Given the description of an element on the screen output the (x, y) to click on. 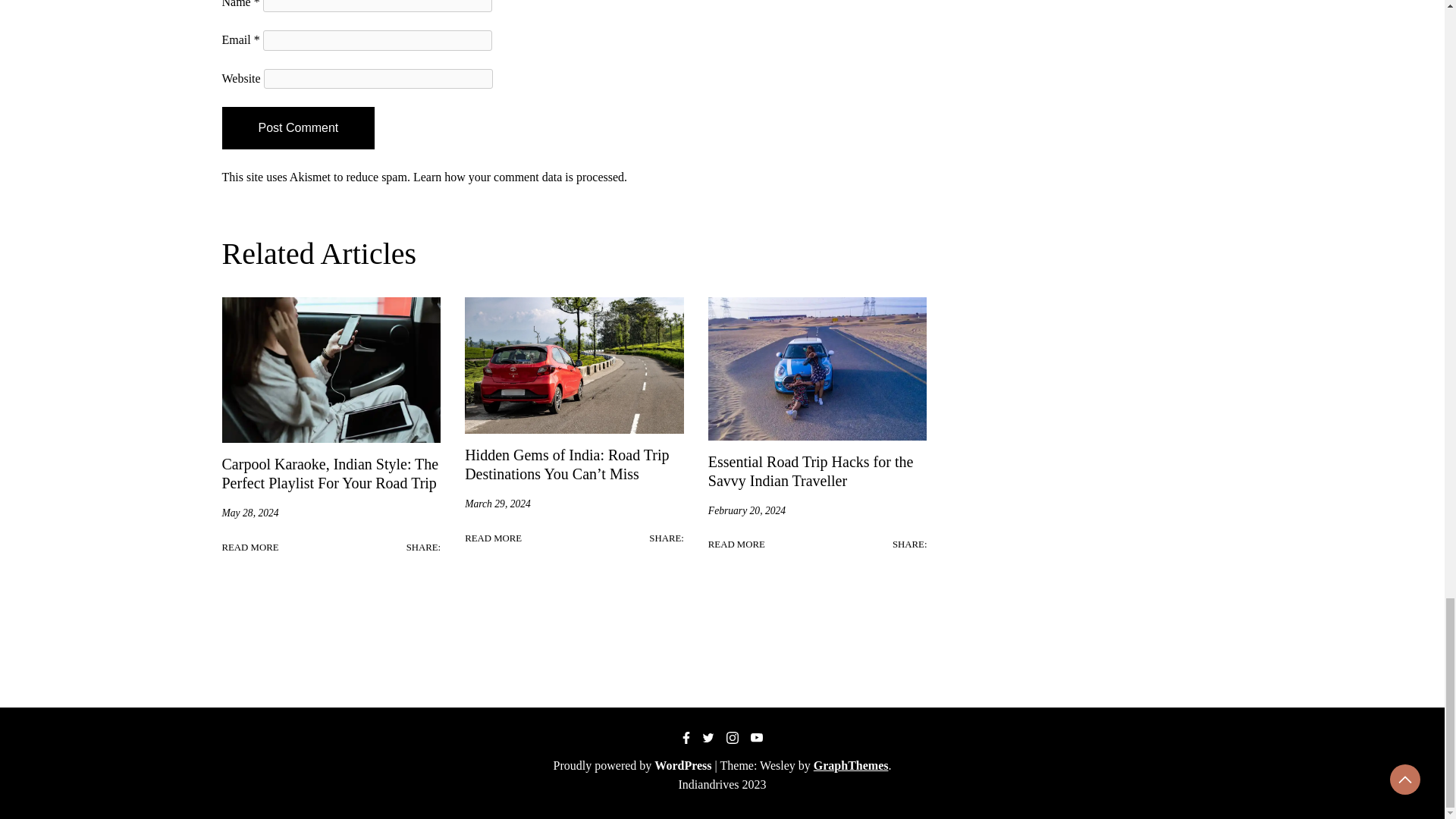
READ MORE (249, 547)
February 20, 2024 (746, 510)
Post Comment (297, 128)
March 29, 2024 (497, 504)
Essential Road Trip Hacks for the Savvy Indian Traveller (810, 470)
Learn how your comment data is processed (518, 176)
READ MORE (492, 538)
Post Comment (297, 128)
May 28, 2024 (249, 513)
READ MORE (736, 544)
